Given the description of an element on the screen output the (x, y) to click on. 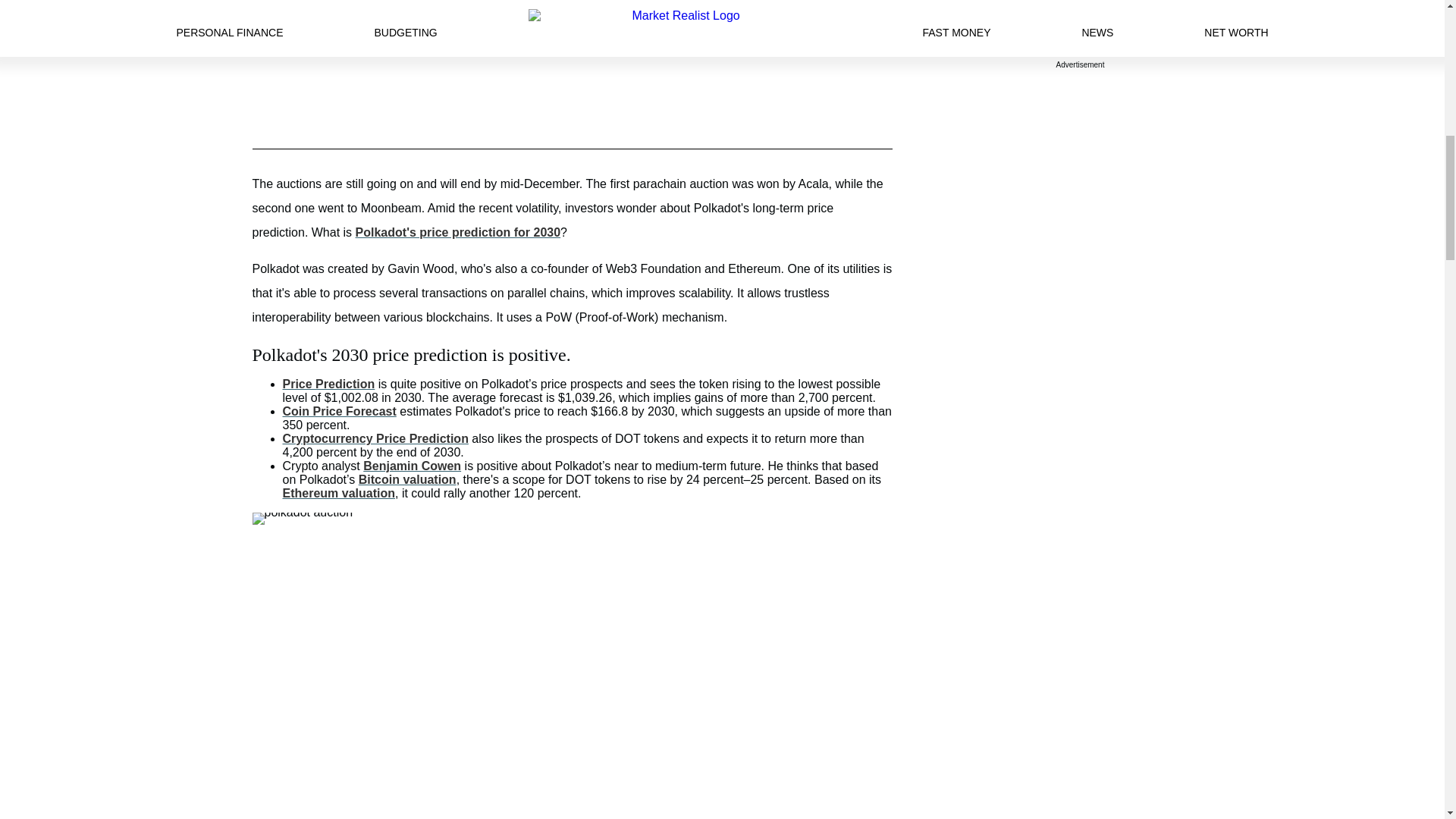
Price Prediction (328, 383)
Coin Price Forecast (339, 410)
Bitcoin valuation (407, 479)
Ethereum valuation (338, 492)
Cryptocurrency Price Prediction (374, 438)
Benjamin Cowen (411, 465)
Polkadot's price prediction for 2030 (457, 232)
